Given the description of an element on the screen output the (x, y) to click on. 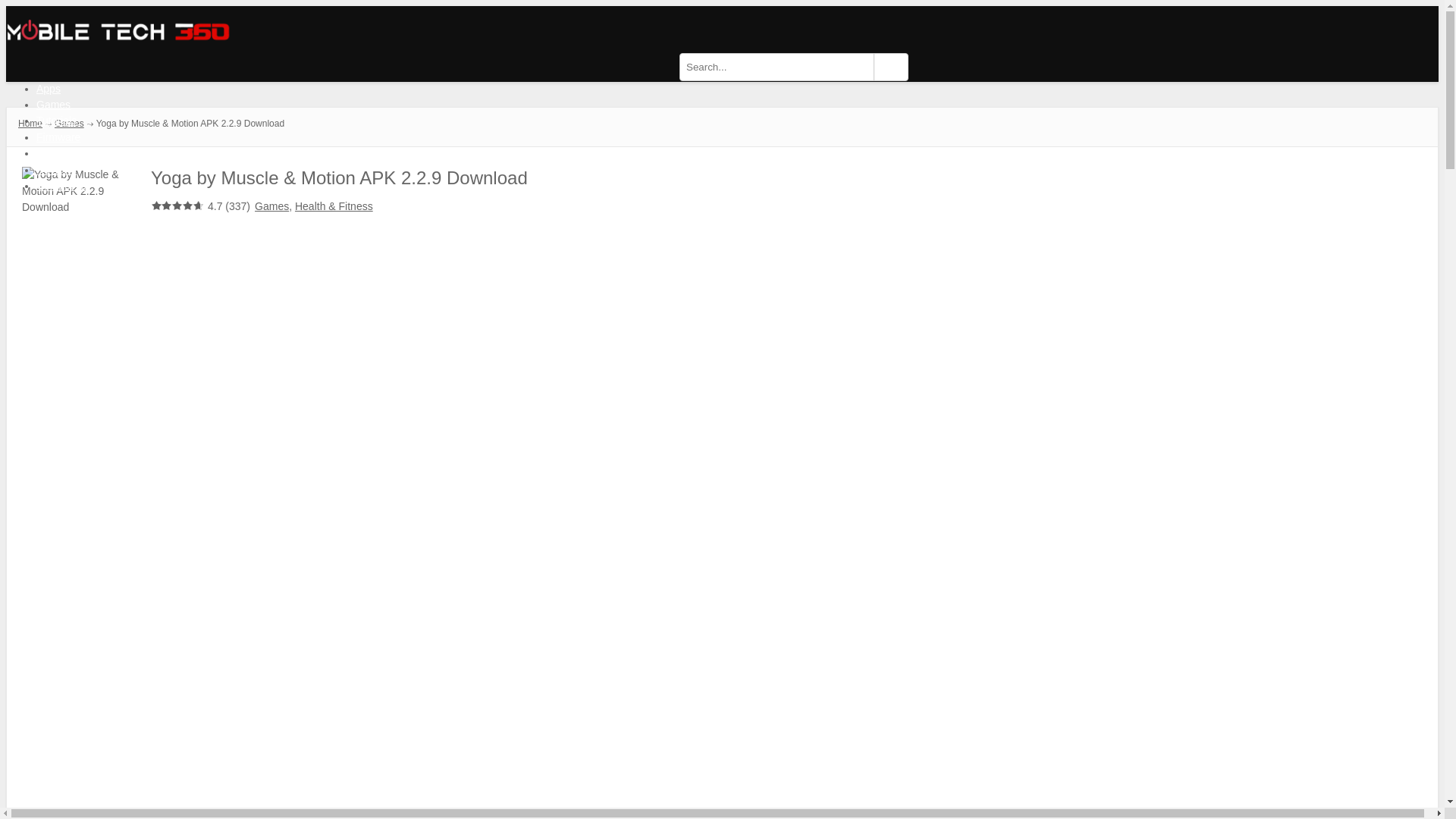
Games (52, 104)
Firmware (58, 137)
Games (69, 122)
Reviews (56, 169)
Home (29, 122)
Apps (48, 88)
Search (890, 67)
Games (271, 205)
Tutorials (56, 120)
Contact Us (62, 185)
